Given the description of an element on the screen output the (x, y) to click on. 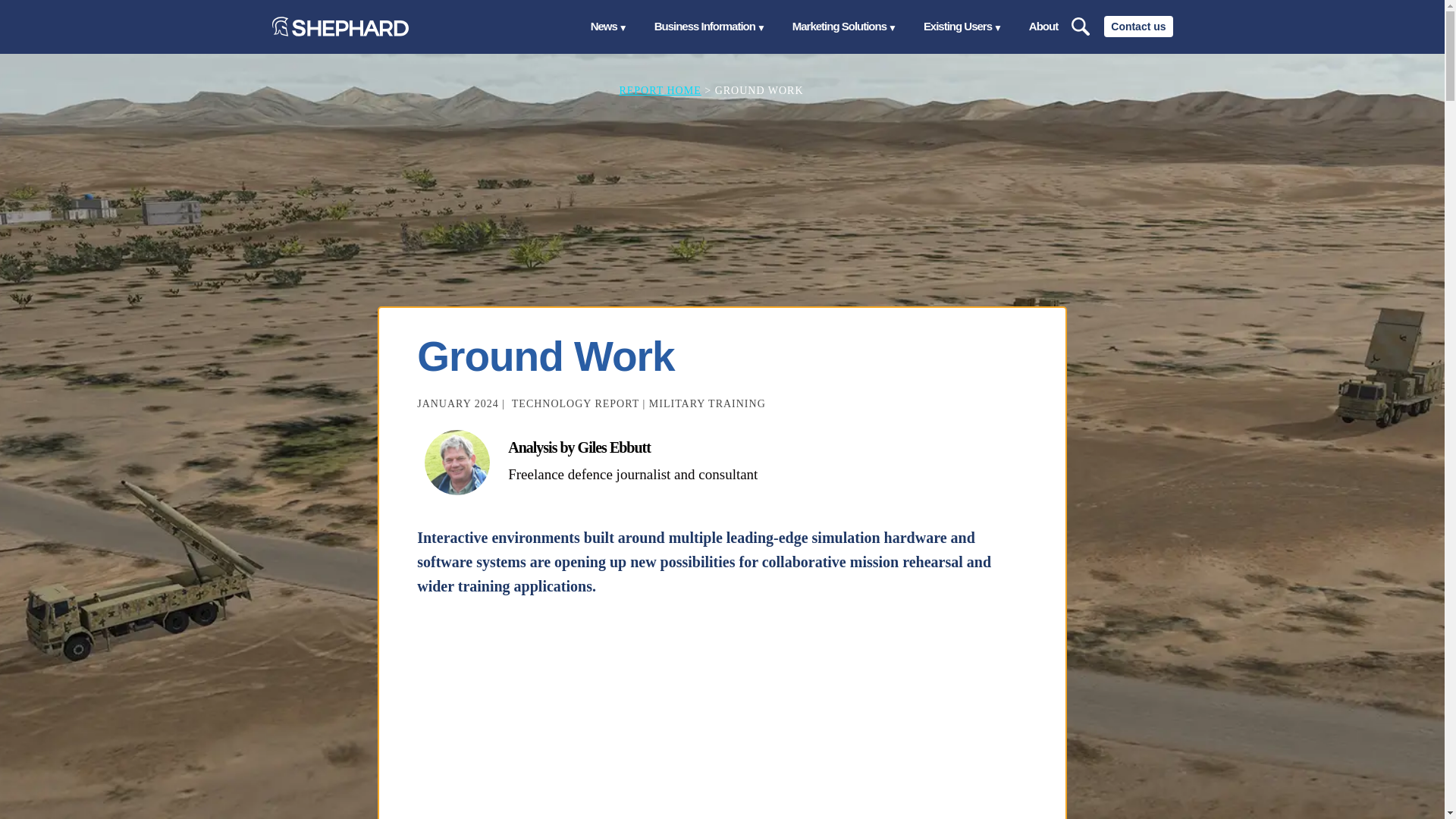
INTRODUCTION (938, 27)
Shephard (338, 26)
IN THE NEWS (1133, 27)
GROUND WORK (1038, 27)
Contact us (1137, 25)
About (1042, 27)
Report Home (659, 90)
